Given the description of an element on the screen output the (x, y) to click on. 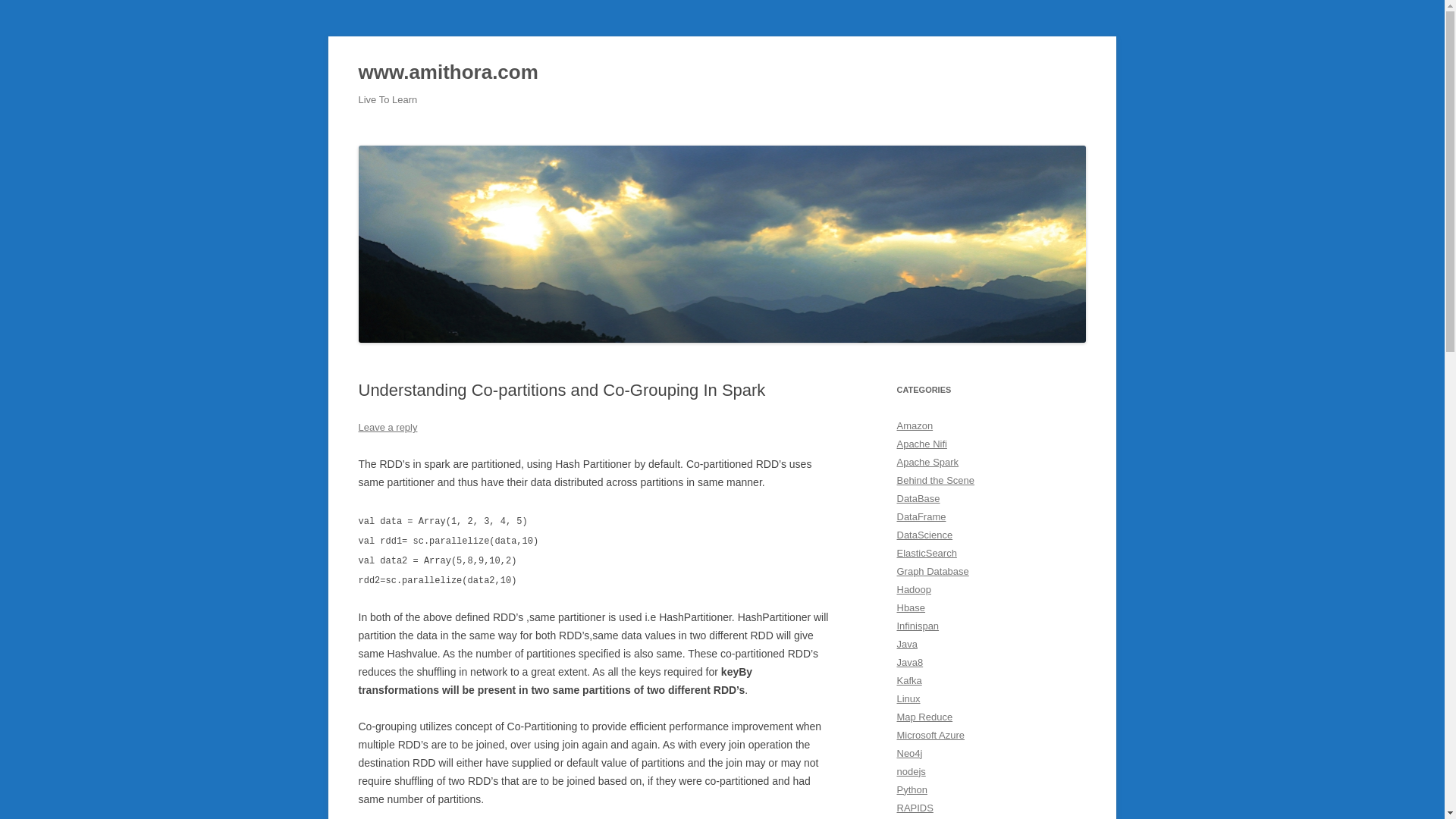
Java (906, 644)
Behind the Scene (935, 480)
www.amithora.com (447, 72)
Java8 (909, 662)
Hbase (910, 607)
DataFrame (920, 516)
Apache Spark (927, 461)
Linux (908, 698)
ElasticSearch (926, 552)
Kafka (908, 680)
Leave a reply (387, 427)
DataBase (917, 498)
Apache Nifi (921, 443)
Amazon (914, 425)
